Given the description of an element on the screen output the (x, y) to click on. 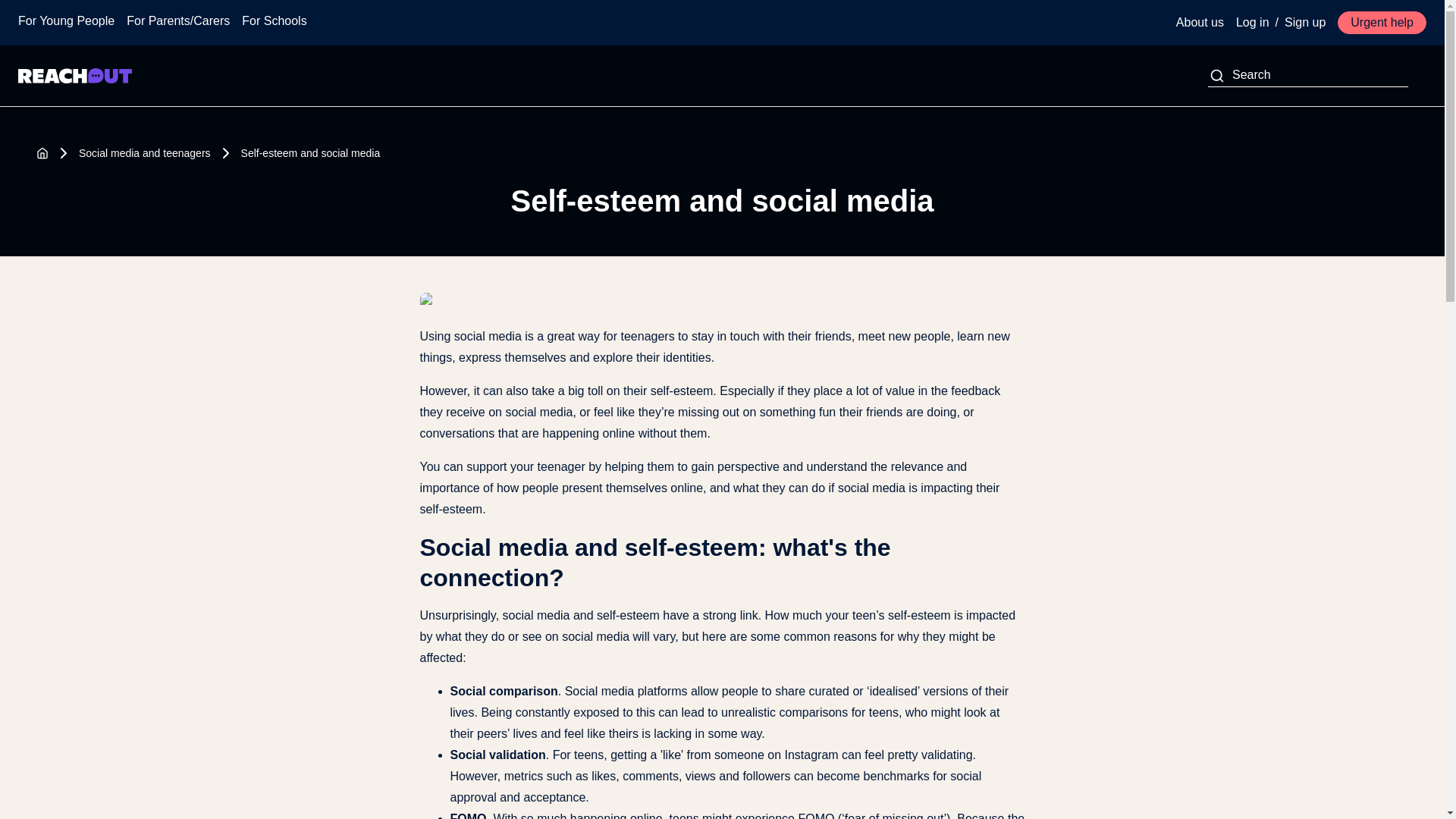
Log in (1252, 22)
Social media and teenagers (144, 152)
For Schools (273, 20)
Urgent help (1382, 22)
For Young People (66, 20)
Sign up (1304, 22)
About us (1200, 22)
